Given the description of an element on the screen output the (x, y) to click on. 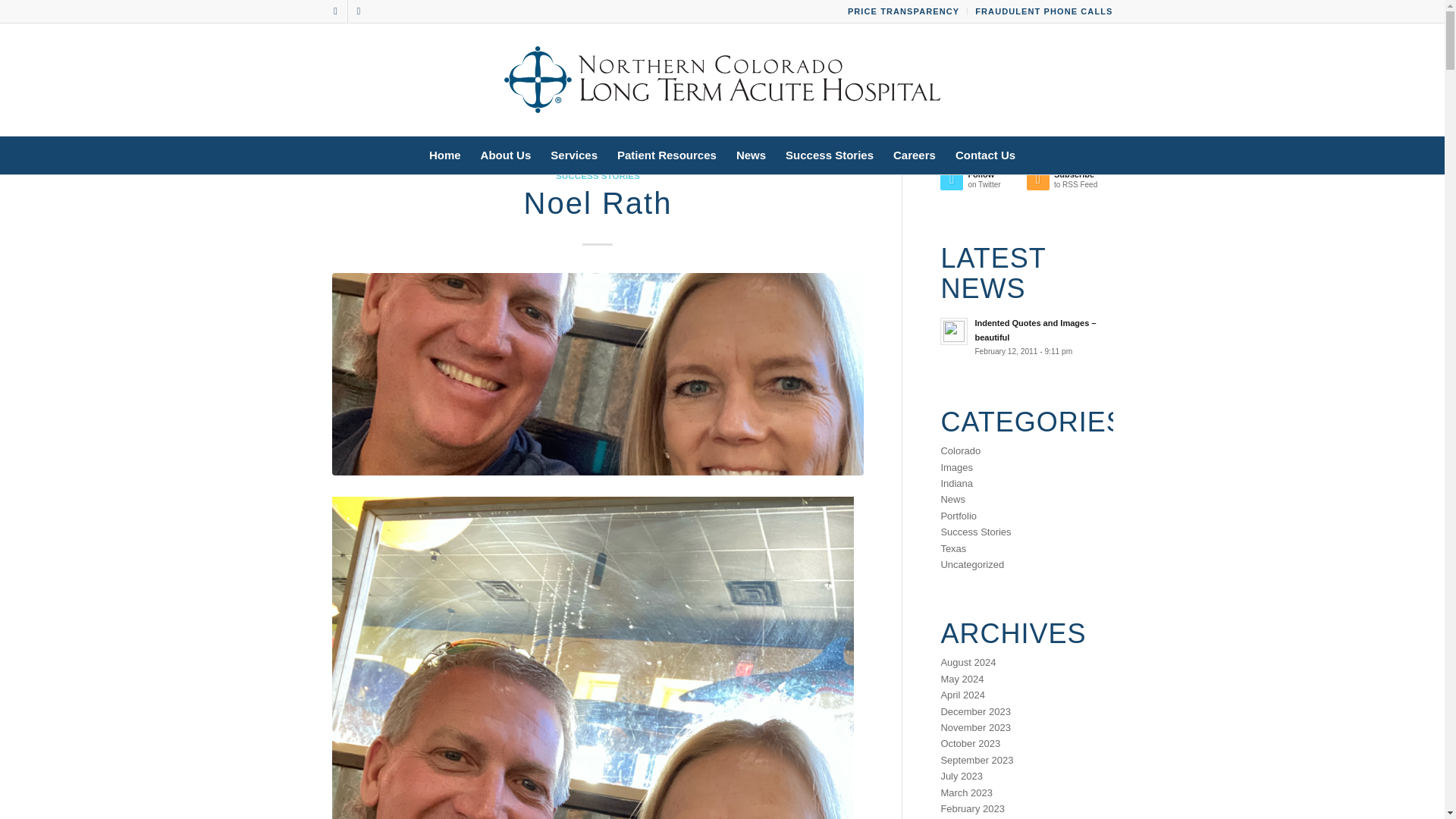
Services (573, 155)
About Us (505, 155)
Facebook (335, 11)
Noel-and-Vicky-Rath (597, 373)
Home (444, 155)
News (751, 155)
Contact Us (984, 155)
PRICE TRANSPARENCY (903, 11)
Careers (913, 155)
Patient Resources (666, 155)
Success Stories (829, 155)
FRAUDULENT PHONE CALLS (1043, 11)
Permanent Link: Noel Rath (596, 203)
Youtube (358, 11)
